Given the description of an element on the screen output the (x, y) to click on. 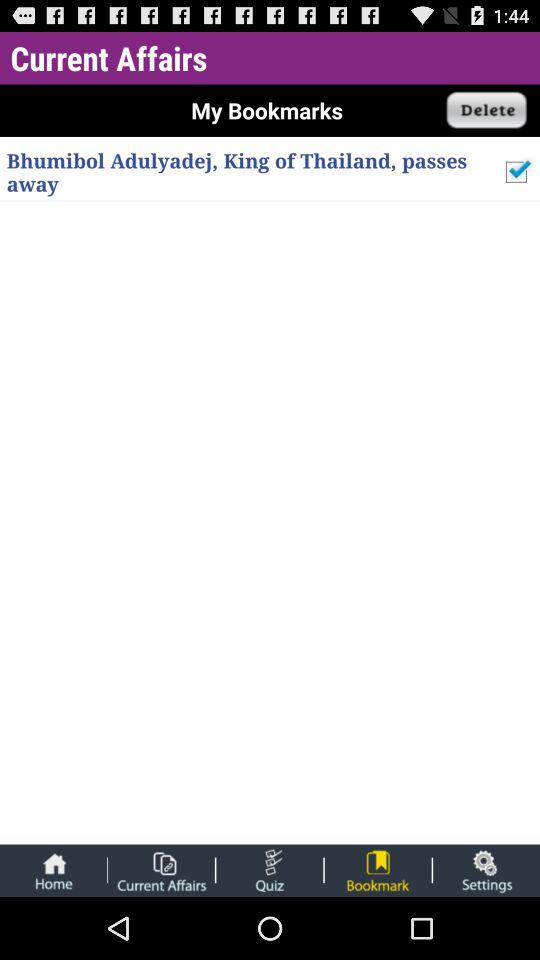
home button (53, 870)
